Given the description of an element on the screen output the (x, y) to click on. 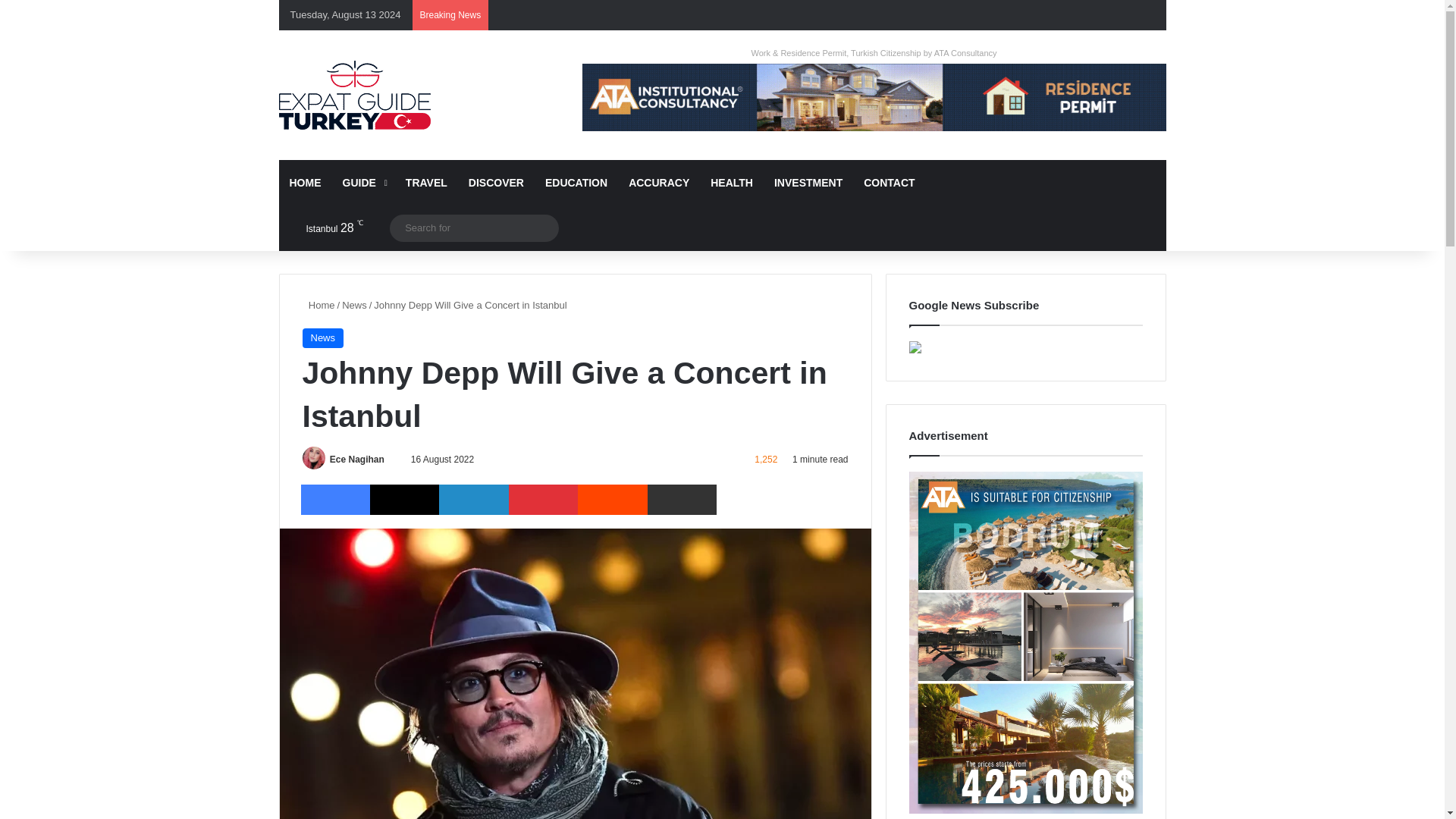
Reddit (612, 499)
HEALTH (731, 182)
GUIDE (362, 182)
Ece Nagihan (357, 459)
TRAVEL (426, 182)
INVESTMENT (807, 182)
DISCOVER (496, 182)
ACCURACY (658, 182)
Search for (474, 227)
News (322, 338)
